Given the description of an element on the screen output the (x, y) to click on. 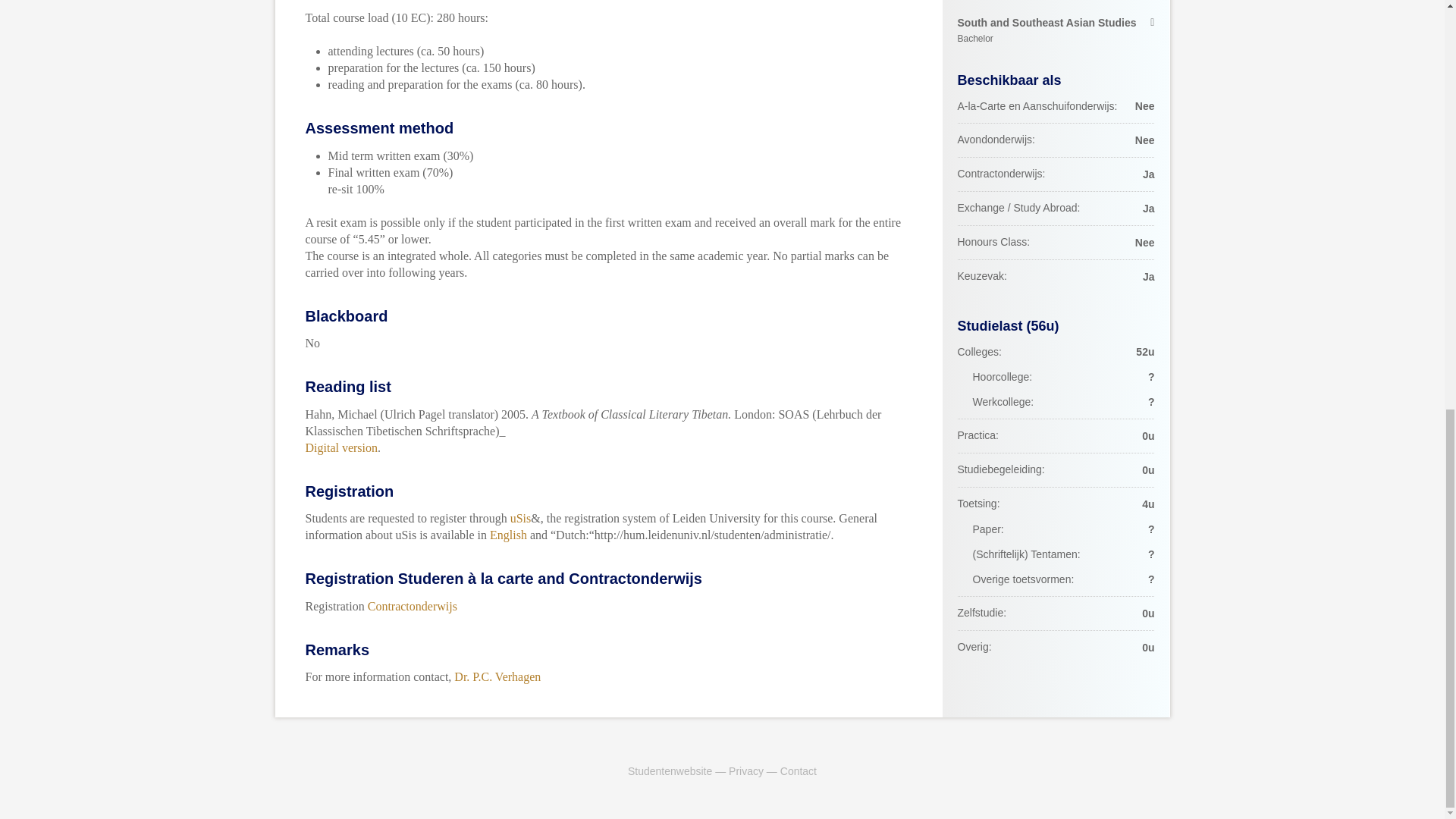
English (508, 534)
Privacy (745, 770)
Contact (798, 770)
Studentenwebsite (669, 770)
uSis (521, 517)
Dr. P.C. Verhagen (497, 676)
Contractonderwijs (412, 604)
Digital version (1055, 30)
